Given the description of an element on the screen output the (x, y) to click on. 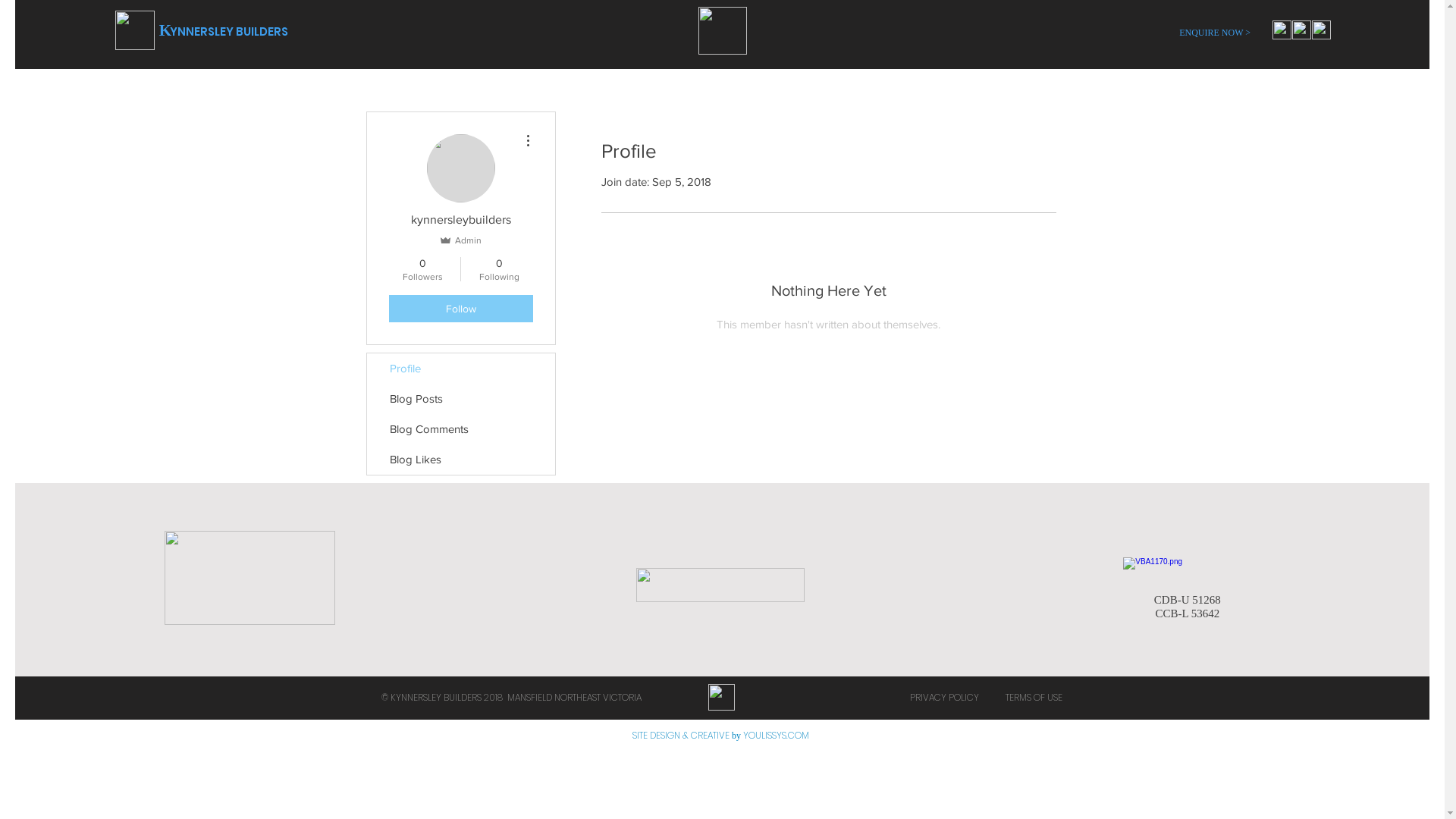
PRIVACY POLICY Element type: text (944, 697)
Follow Element type: text (460, 308)
TERMS OF USE Element type: text (1033, 697)
Blog Posts Element type: text (461, 398)
YOULISSYS.COM Element type: text (776, 734)
Blog Comments Element type: text (461, 429)
ENQUIRE NOW > Element type: text (1215, 32)
0
Followers Element type: text (421, 268)
Blog Likes Element type: text (461, 459)
Profile Element type: text (461, 368)
0
Following Element type: text (499, 268)
